Given the description of an element on the screen output the (x, y) to click on. 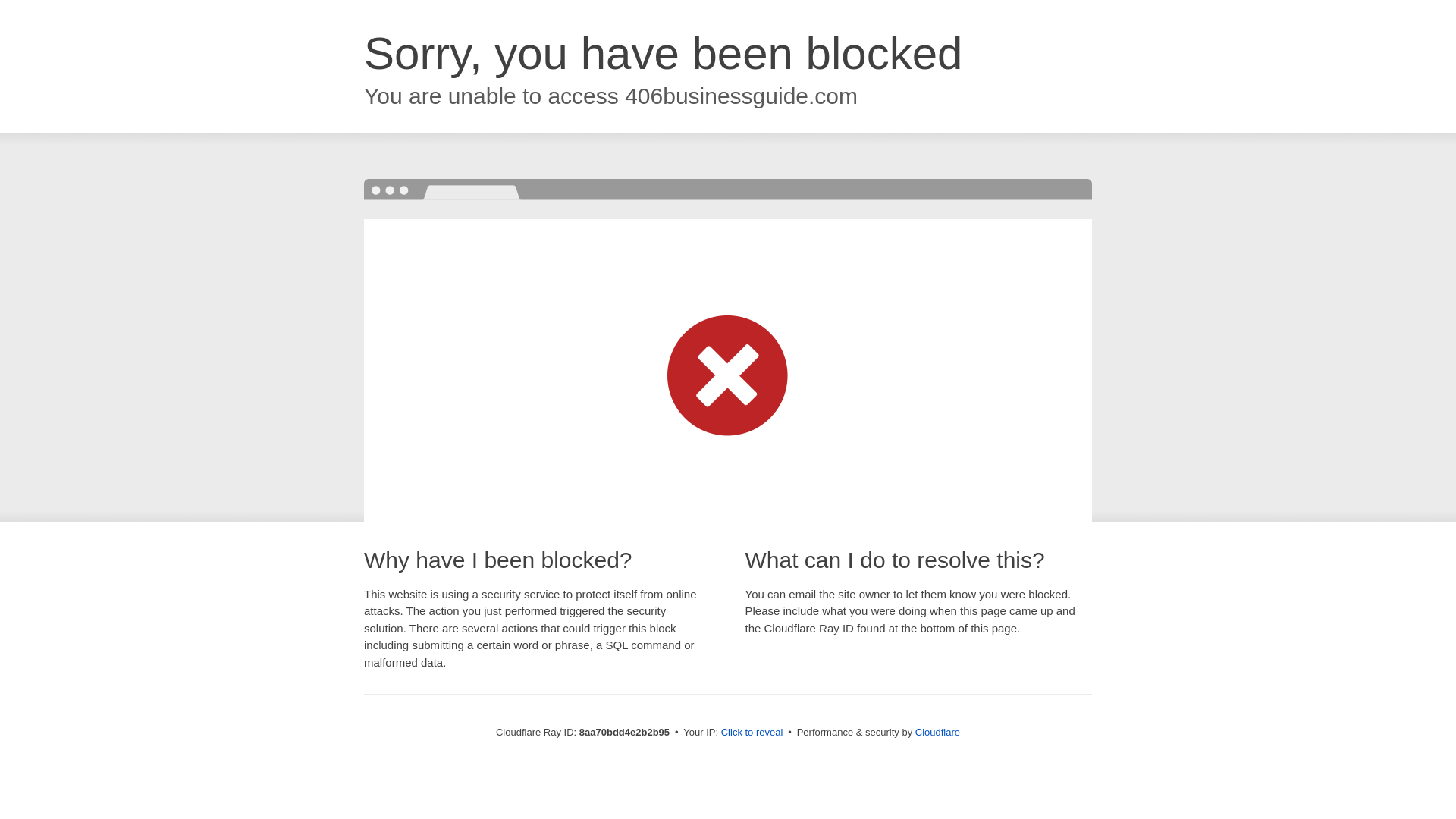
Cloudflare (937, 731)
Click to reveal (751, 732)
